Given the description of an element on the screen output the (x, y) to click on. 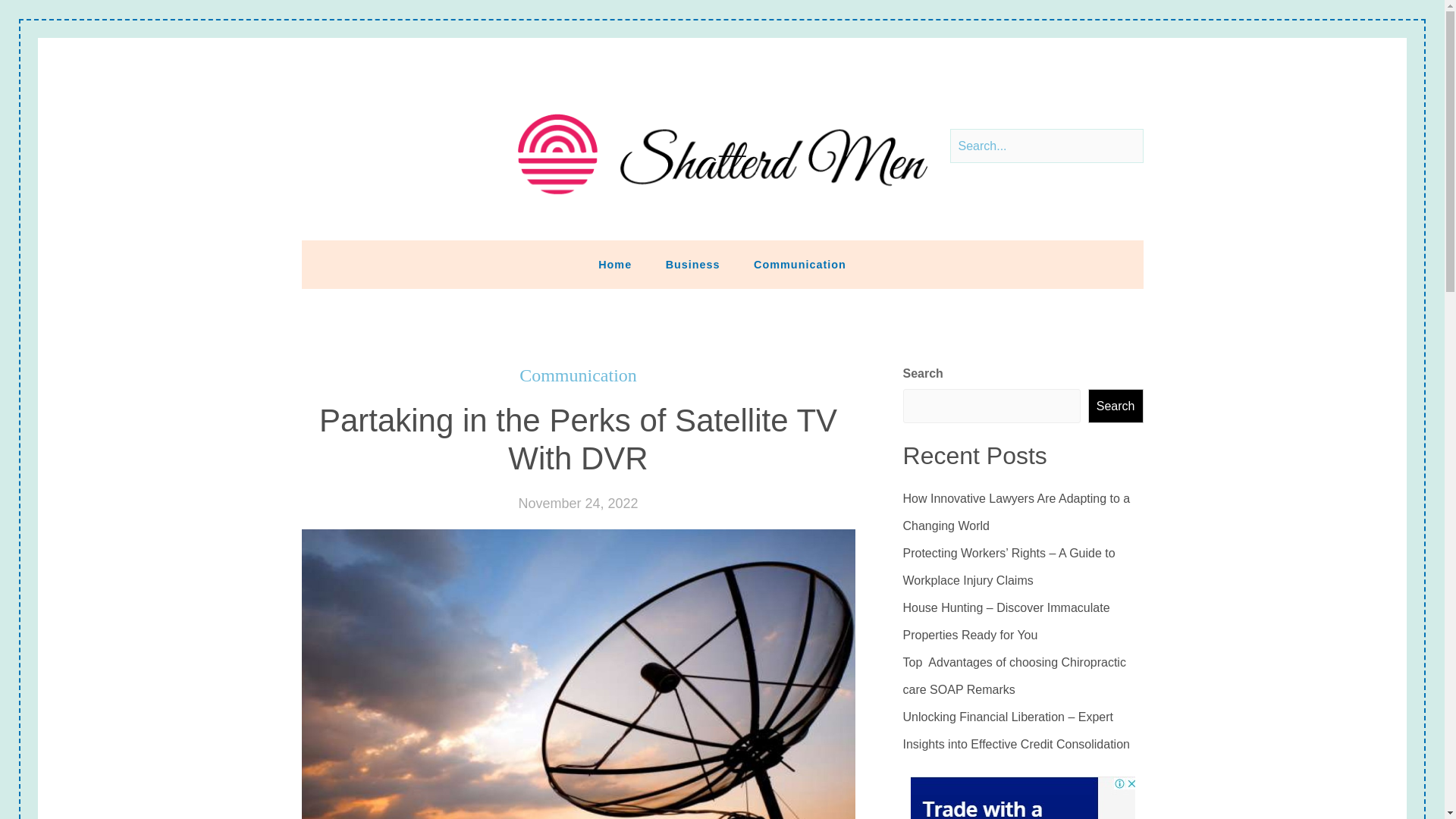
Business (692, 264)
Communication (799, 264)
Home (614, 264)
Communication (578, 375)
Top  Advantages of choosing Chiropractic care SOAP Remarks (1022, 676)
How Innovative Lawyers Are Adapting to a Changing World (1022, 512)
November 24, 2022 (577, 503)
Search (1114, 406)
